Given the description of an element on the screen output the (x, y) to click on. 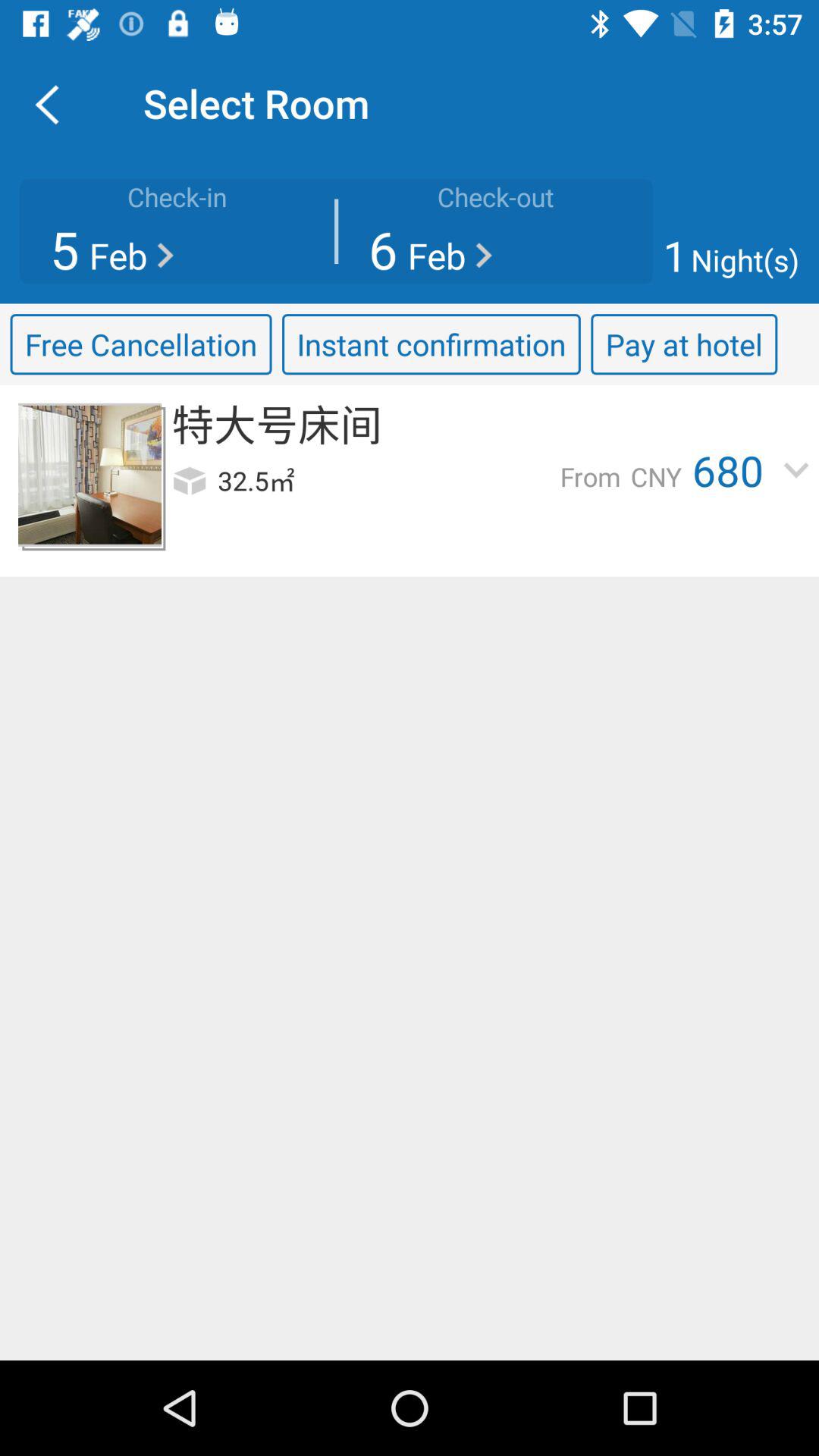
a thumbnail that takes you to the room listing (89, 474)
